Given the description of an element on the screen output the (x, y) to click on. 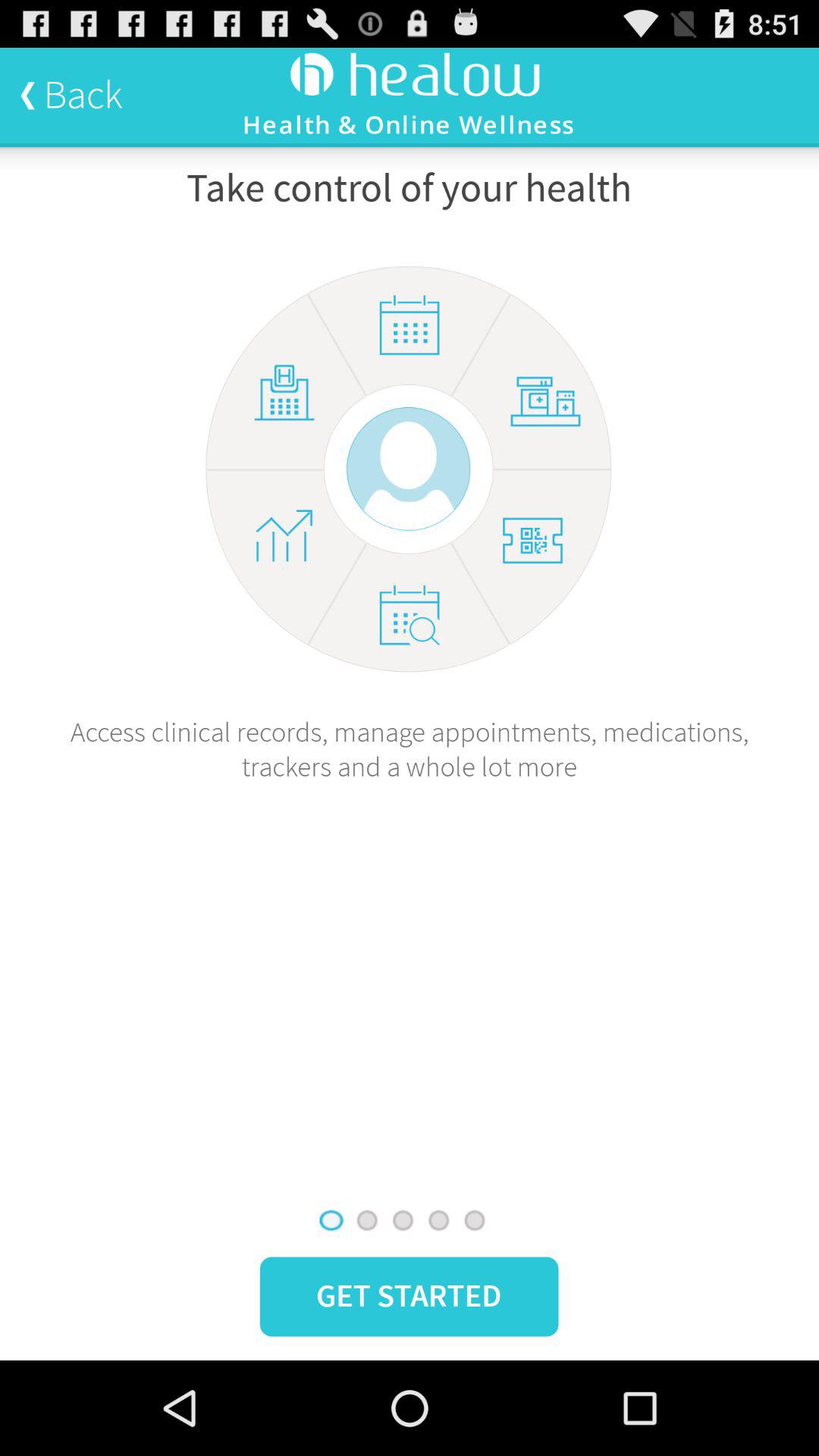
turn on the back icon (70, 95)
